Given the description of an element on the screen output the (x, y) to click on. 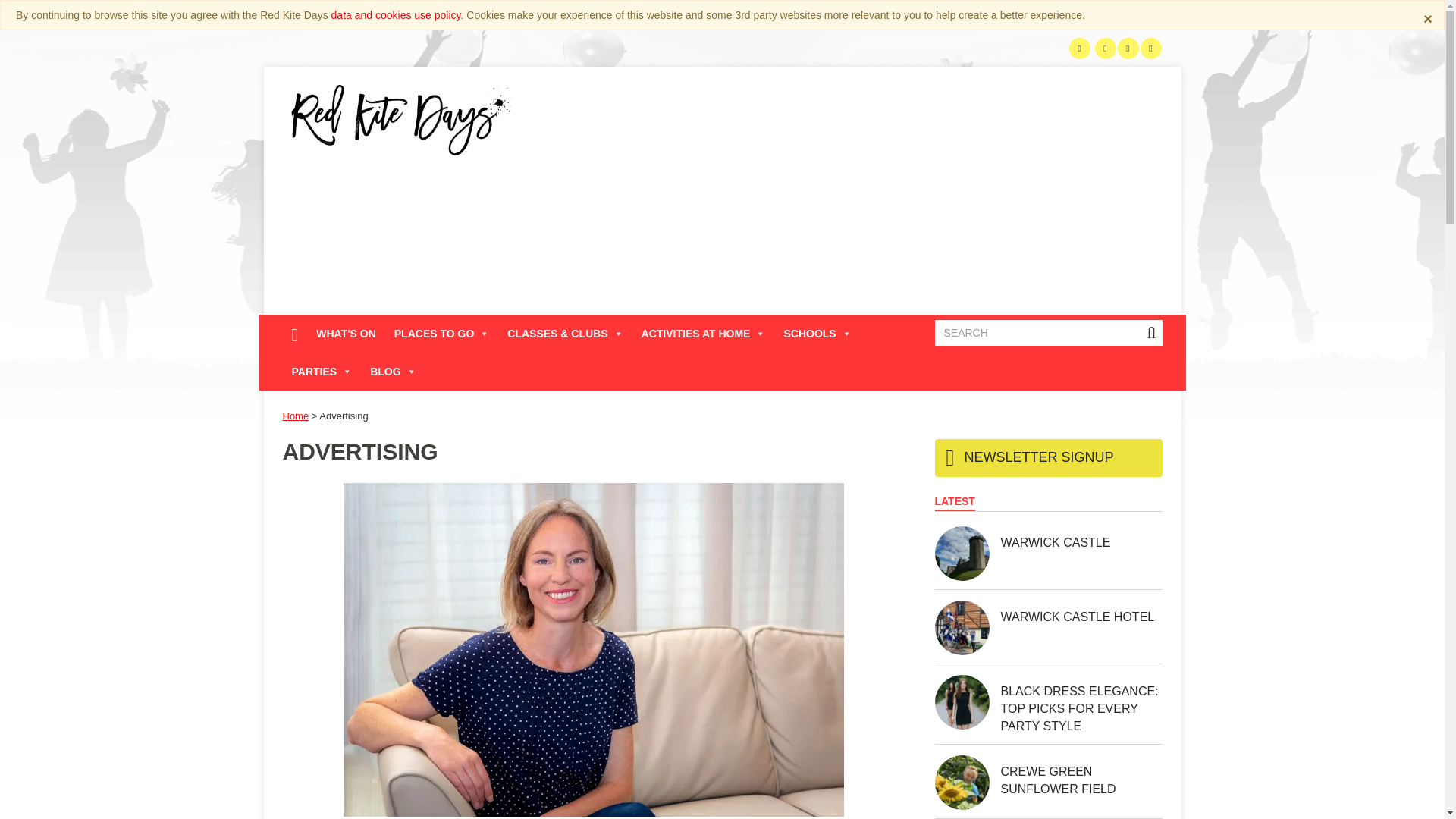
PLACES TO GO (442, 333)
WHAT'S ON (346, 333)
Advertisement (870, 196)
data and cookies use policy (396, 15)
